Given the description of an element on the screen output the (x, y) to click on. 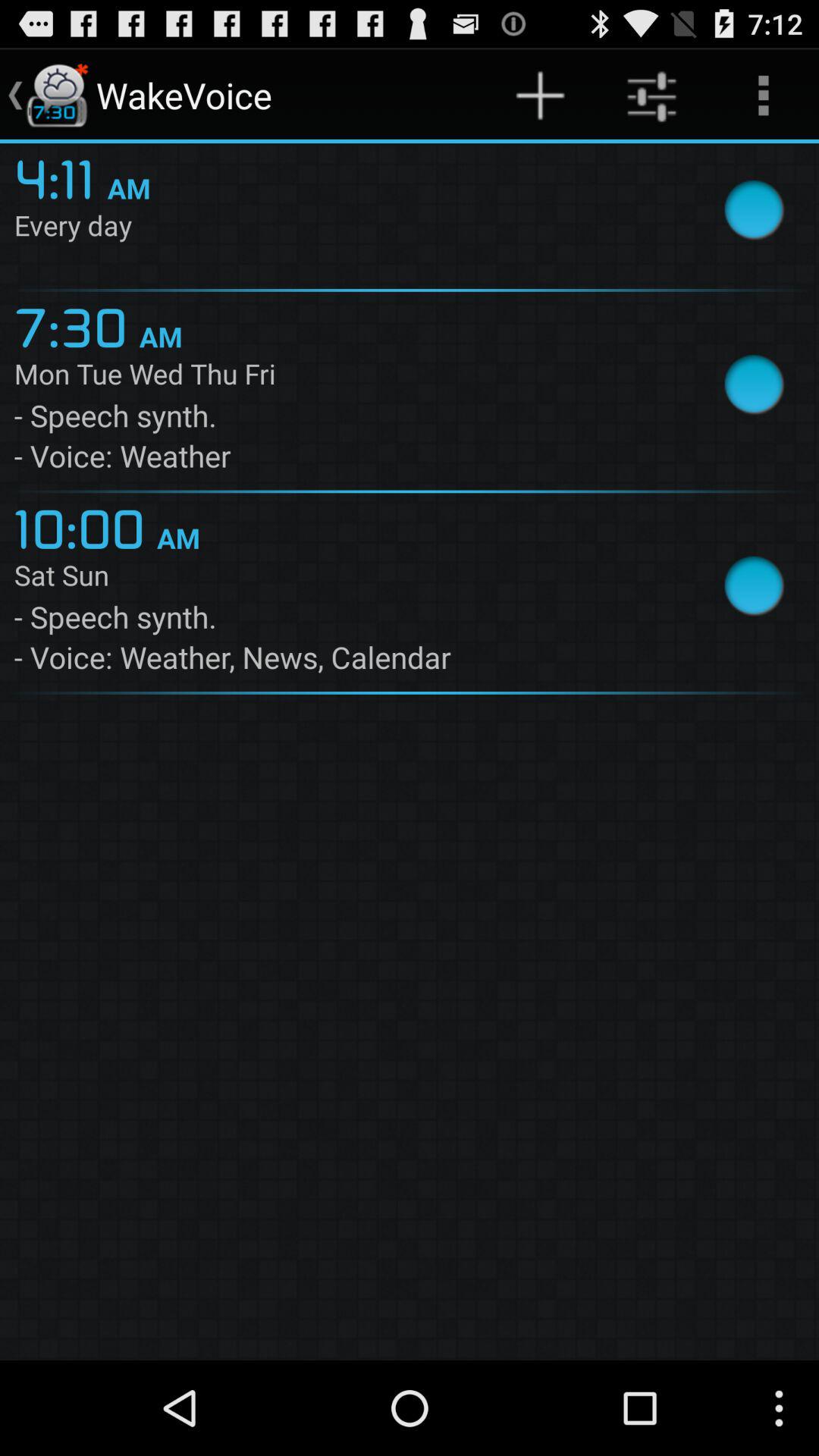
launch the icon to the right of wakevoice item (540, 95)
